Given the description of an element on the screen output the (x, y) to click on. 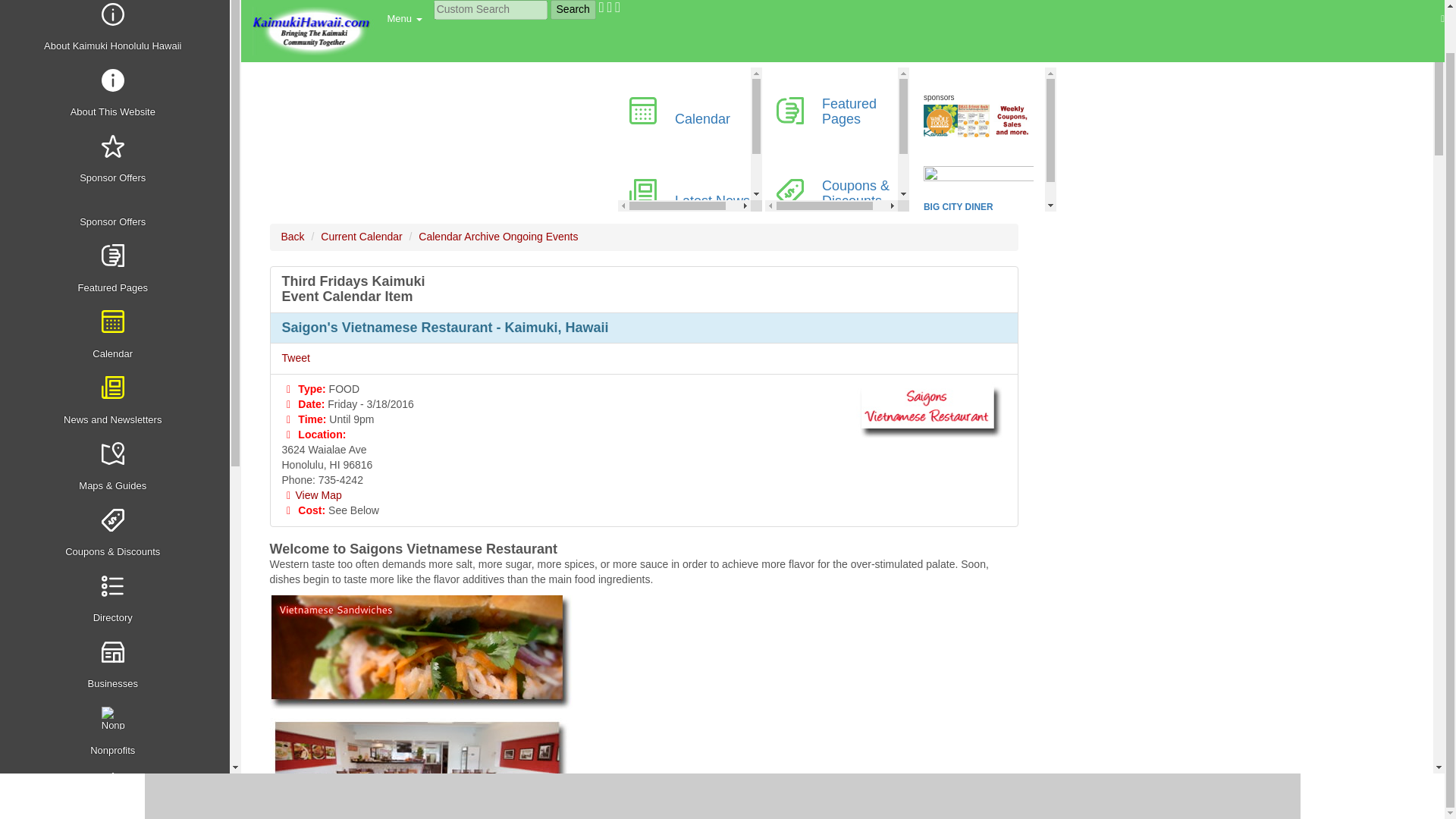
Sponsor Offers (117, 214)
News and Newsletters (117, 401)
Businesses (117, 666)
About This Website (117, 94)
Calendar (117, 335)
Sponsor Offers (117, 160)
Directory (117, 600)
Nonprofits (117, 731)
Featured Pages (117, 269)
About Kaimuki Honolulu Hawaii (117, 30)
